Given the description of an element on the screen output the (x, y) to click on. 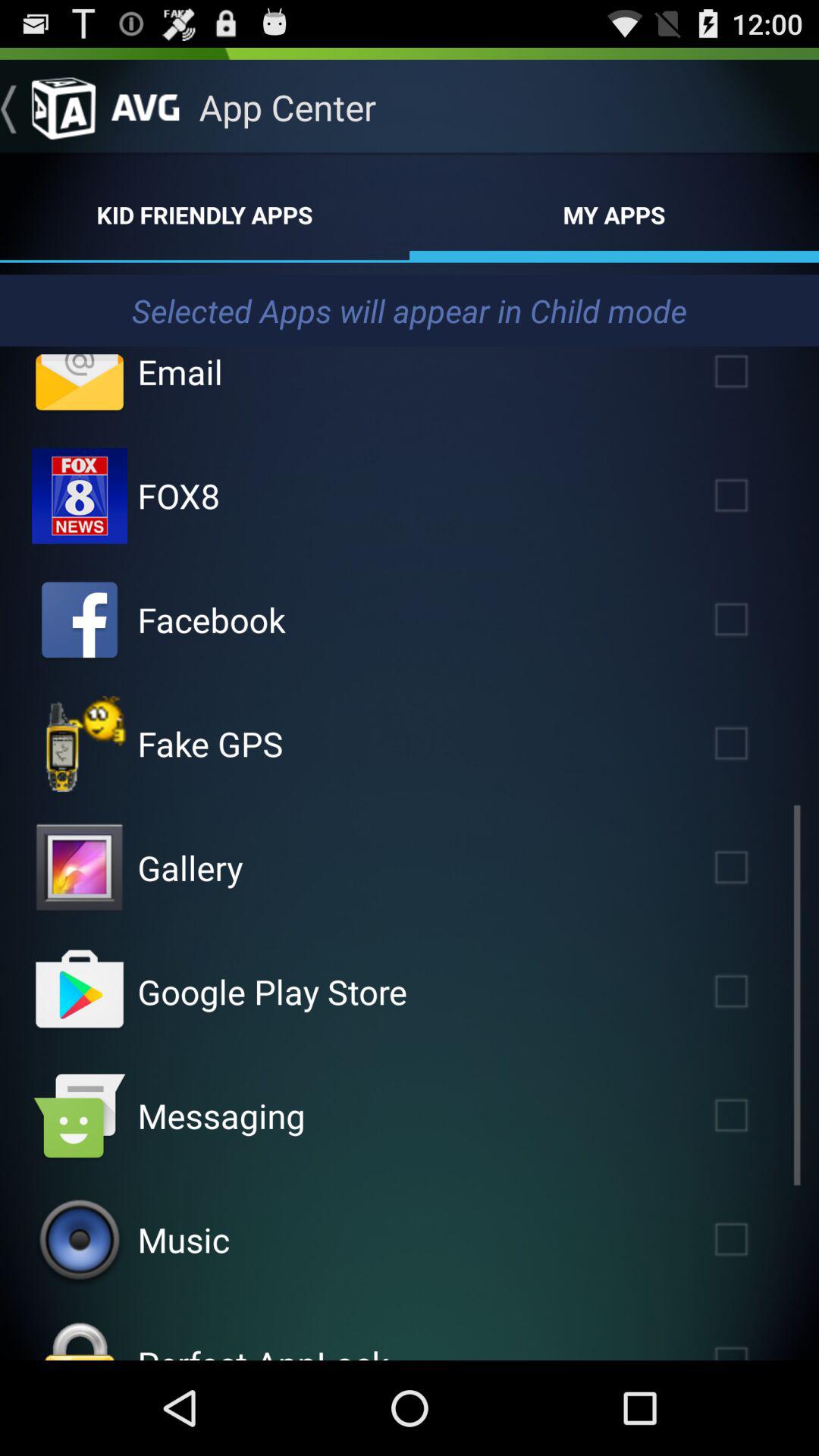
select the item above the kid friendly apps item (47, 107)
